Given the description of an element on the screen output the (x, y) to click on. 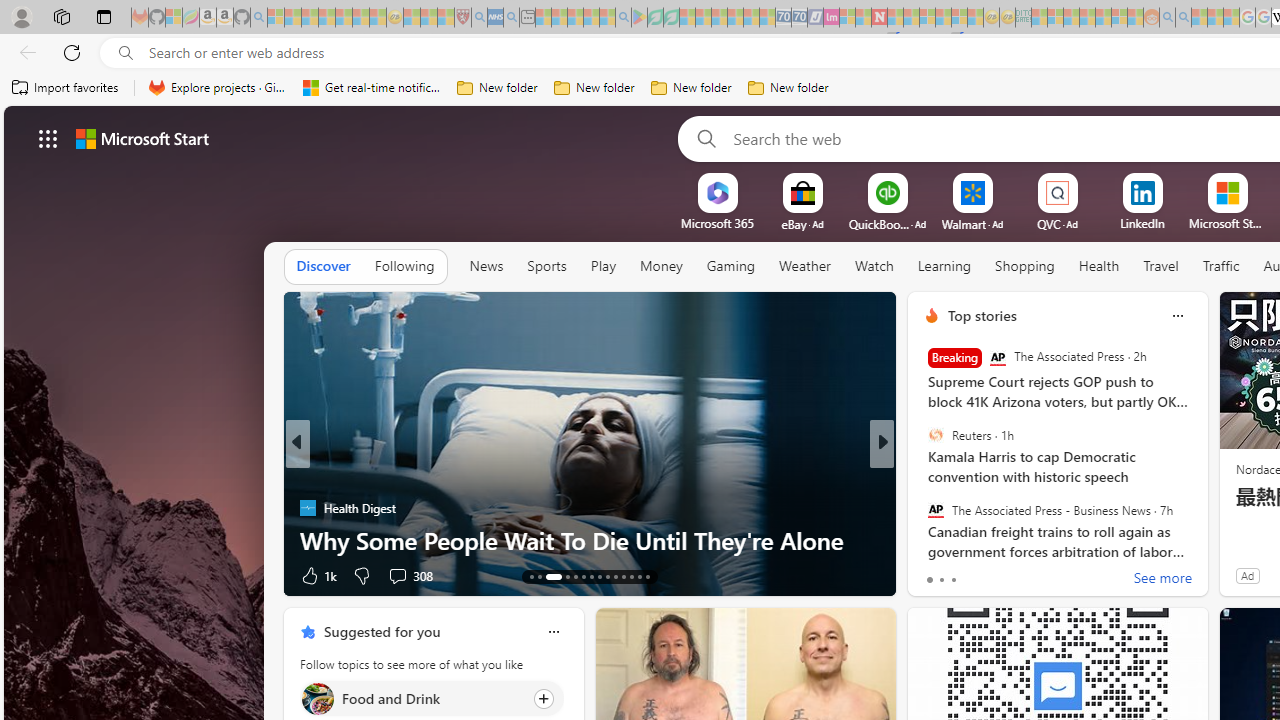
Travel (1160, 267)
View comments 1 Comment (1014, 575)
CNBC (923, 475)
View comments 13 Comment (1029, 574)
Bluey: Let's Play! - Apps on Google Play - Sleeping (639, 17)
View comments 2 Comment (1019, 574)
New Report Confirms 2023 Was Record Hot | Watch - Sleeping (343, 17)
INSIDER (923, 475)
186 Like (936, 574)
Class: icon-img (553, 632)
